Given the description of an element on the screen output the (x, y) to click on. 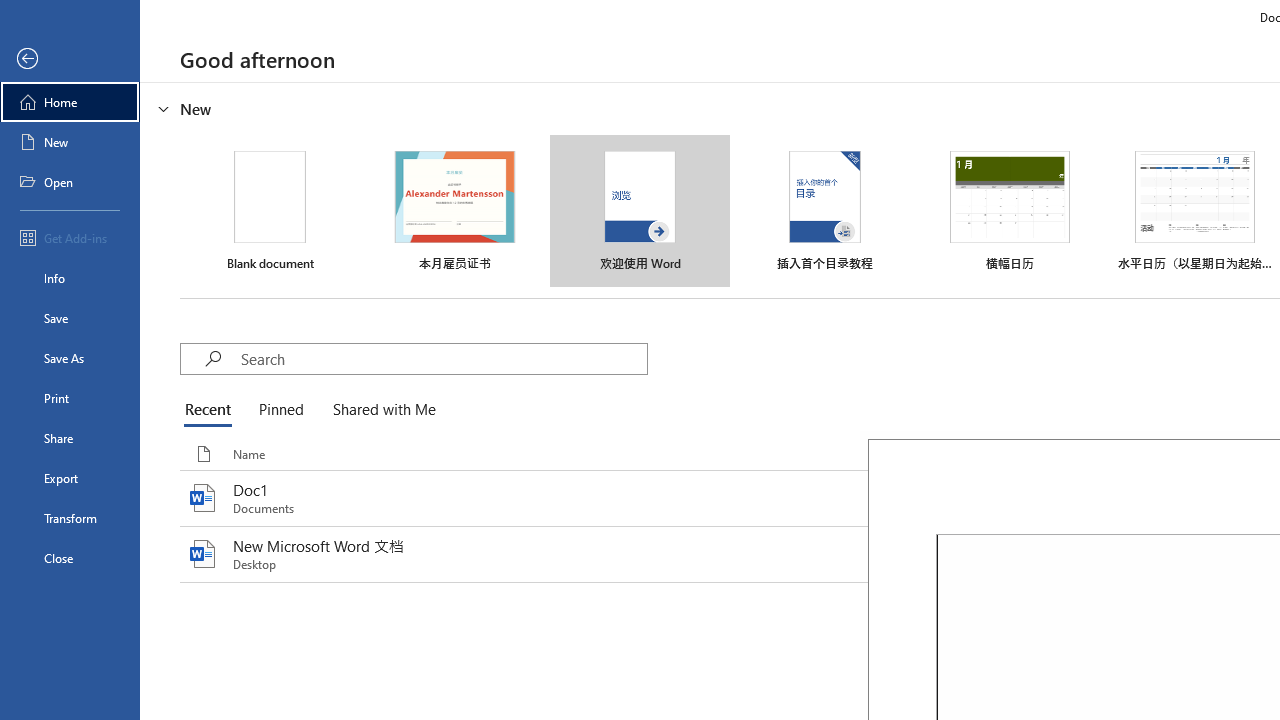
Recent (212, 410)
Get Add-ins (69, 237)
Blank document (269, 211)
Pinned (280, 410)
Print (69, 398)
